Given the description of an element on the screen output the (x, y) to click on. 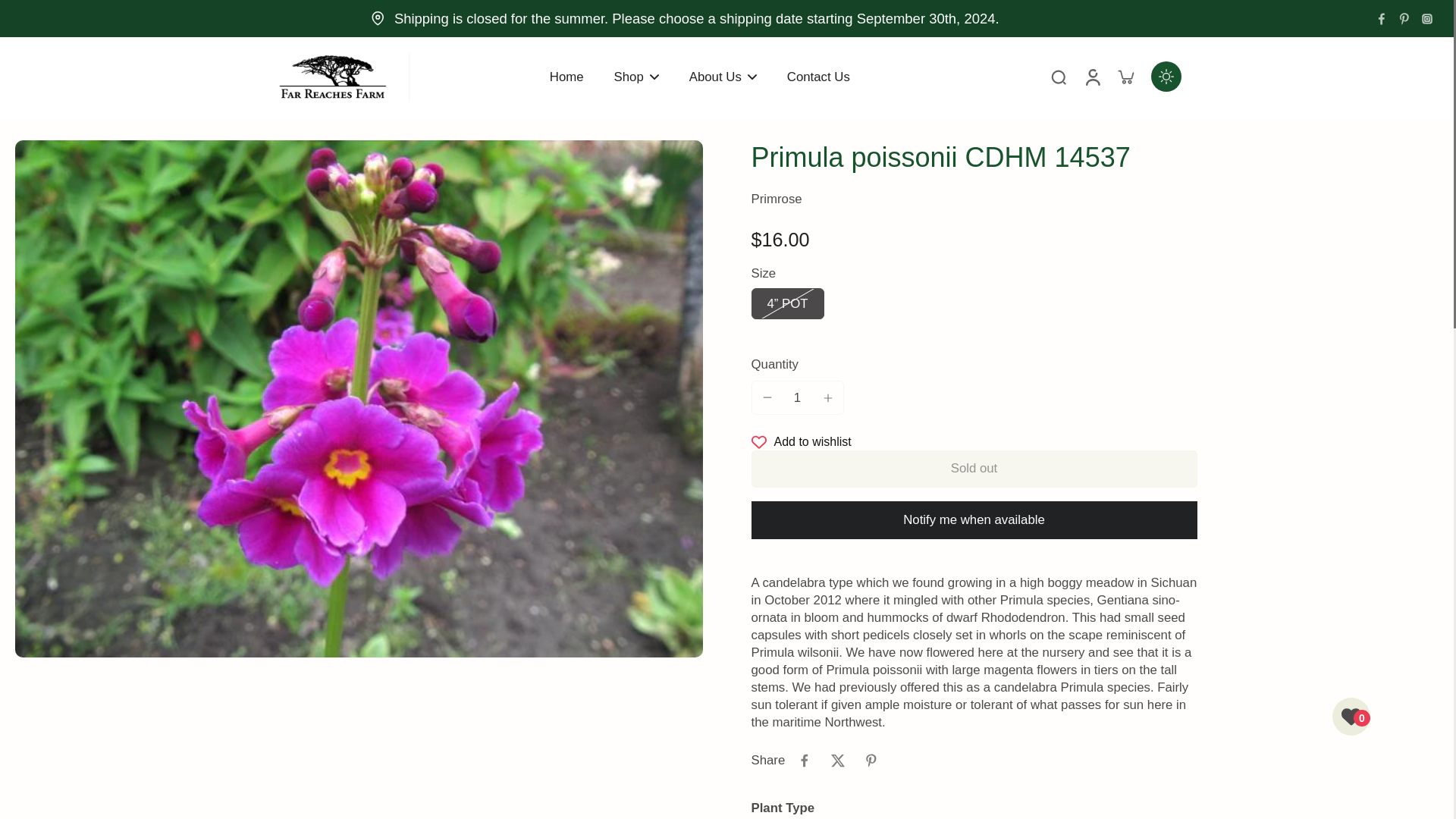
Home (566, 76)
1 (797, 397)
Skip to content (19, 10)
About Us (722, 76)
Shop (636, 76)
Contact Us (818, 76)
